Given the description of an element on the screen output the (x, y) to click on. 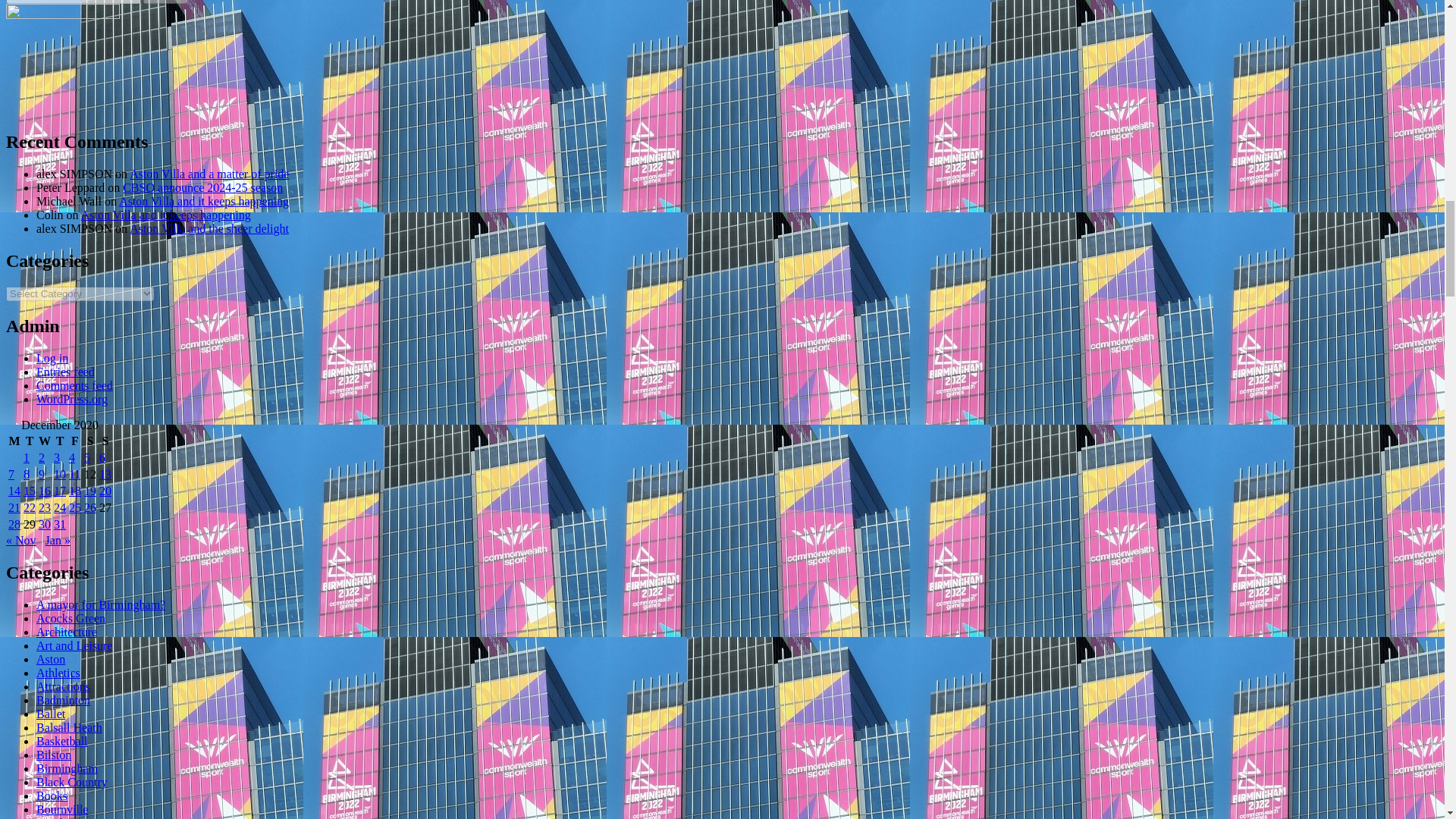
Log in (52, 358)
Entries feed (65, 371)
Aston Villa and a matter of pride (208, 173)
Search (164, 2)
Monday (14, 441)
Thursday (59, 441)
Tuesday (29, 441)
Aston Villa and it keeps happening (203, 201)
Aston Villa and it keeps happening (165, 214)
Friday (74, 441)
Wednesday (43, 441)
CBSO announce 2024-25 season (202, 187)
Aston Villa and the sheer delight (208, 228)
Search (164, 2)
